Given the description of an element on the screen output the (x, y) to click on. 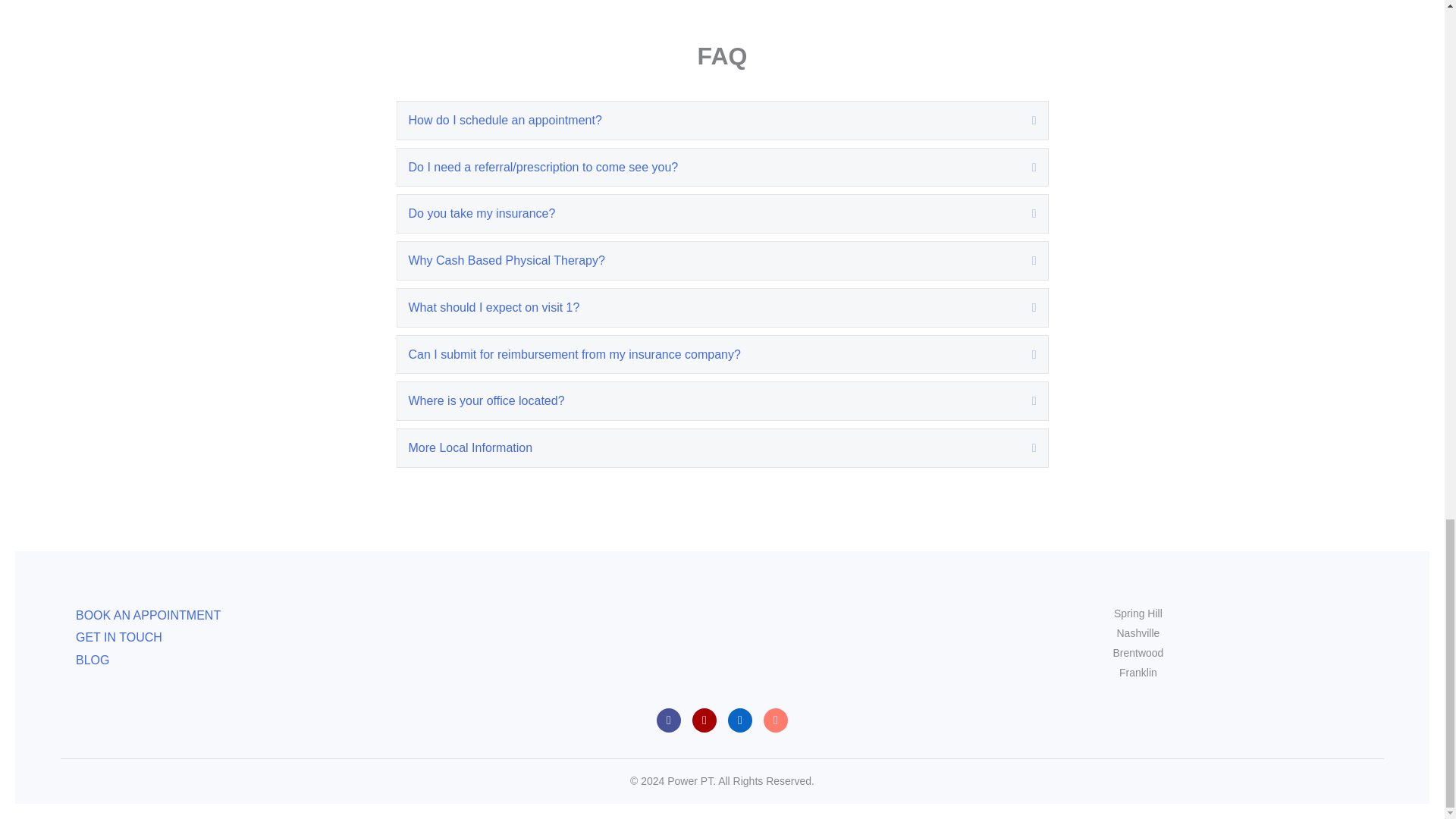
Expand (1022, 260)
Expand (1022, 354)
Expand (1022, 307)
What should I expect on visit 1? (708, 307)
Google Plus (774, 720)
LinkedIn (740, 720)
How do I schedule an appointment? (708, 119)
Why Cash Based Physical Therapy? (708, 260)
Where is your office located? (708, 400)
Facebook (668, 720)
Do you take my insurance? (708, 213)
Instagram (704, 720)
Can I submit for reimbursement from my insurance company? (708, 354)
Expand (1022, 213)
Expand (1022, 119)
